Given the description of an element on the screen output the (x, y) to click on. 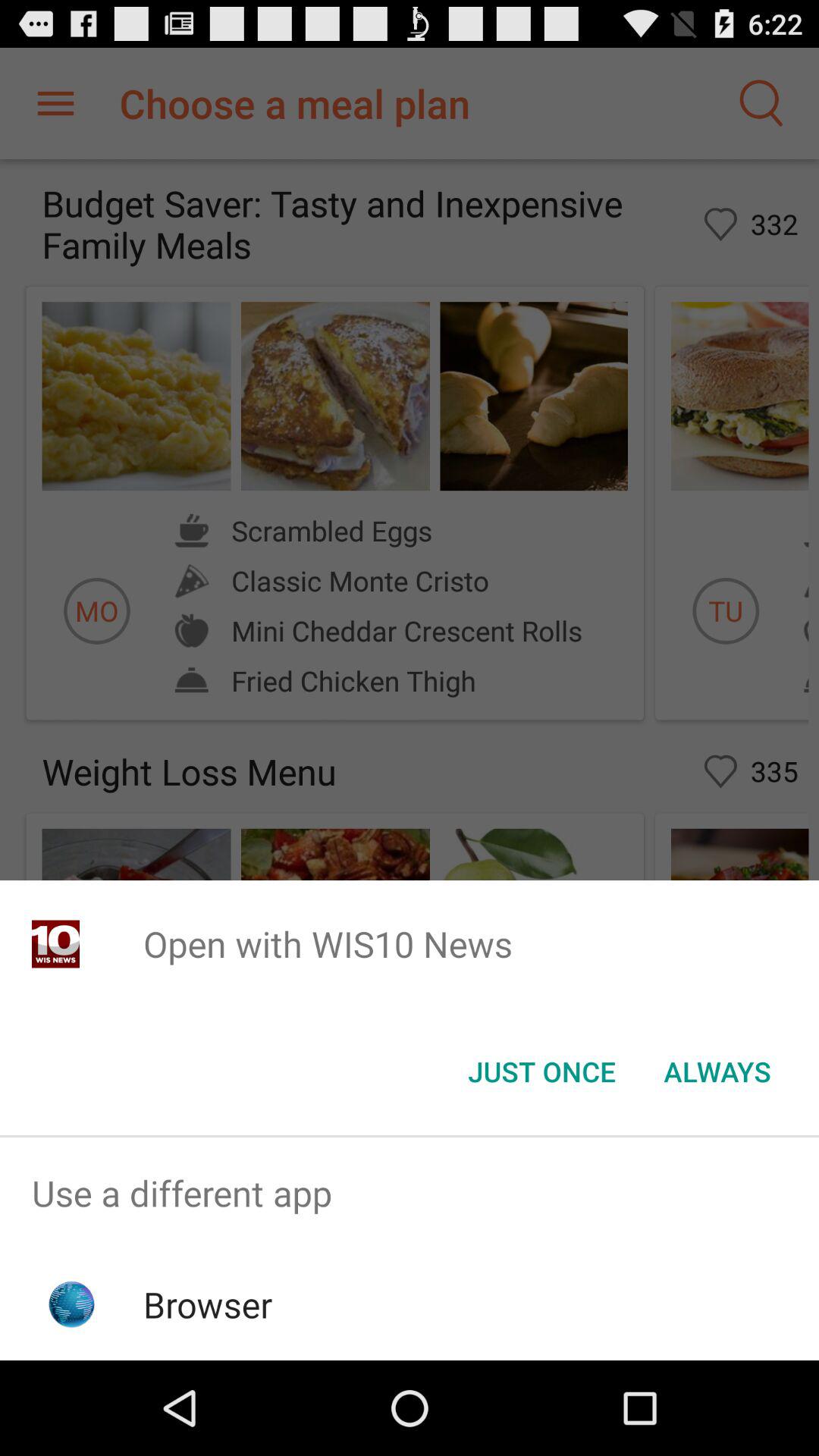
swipe to the use a different app (409, 1192)
